Given the description of an element on the screen output the (x, y) to click on. 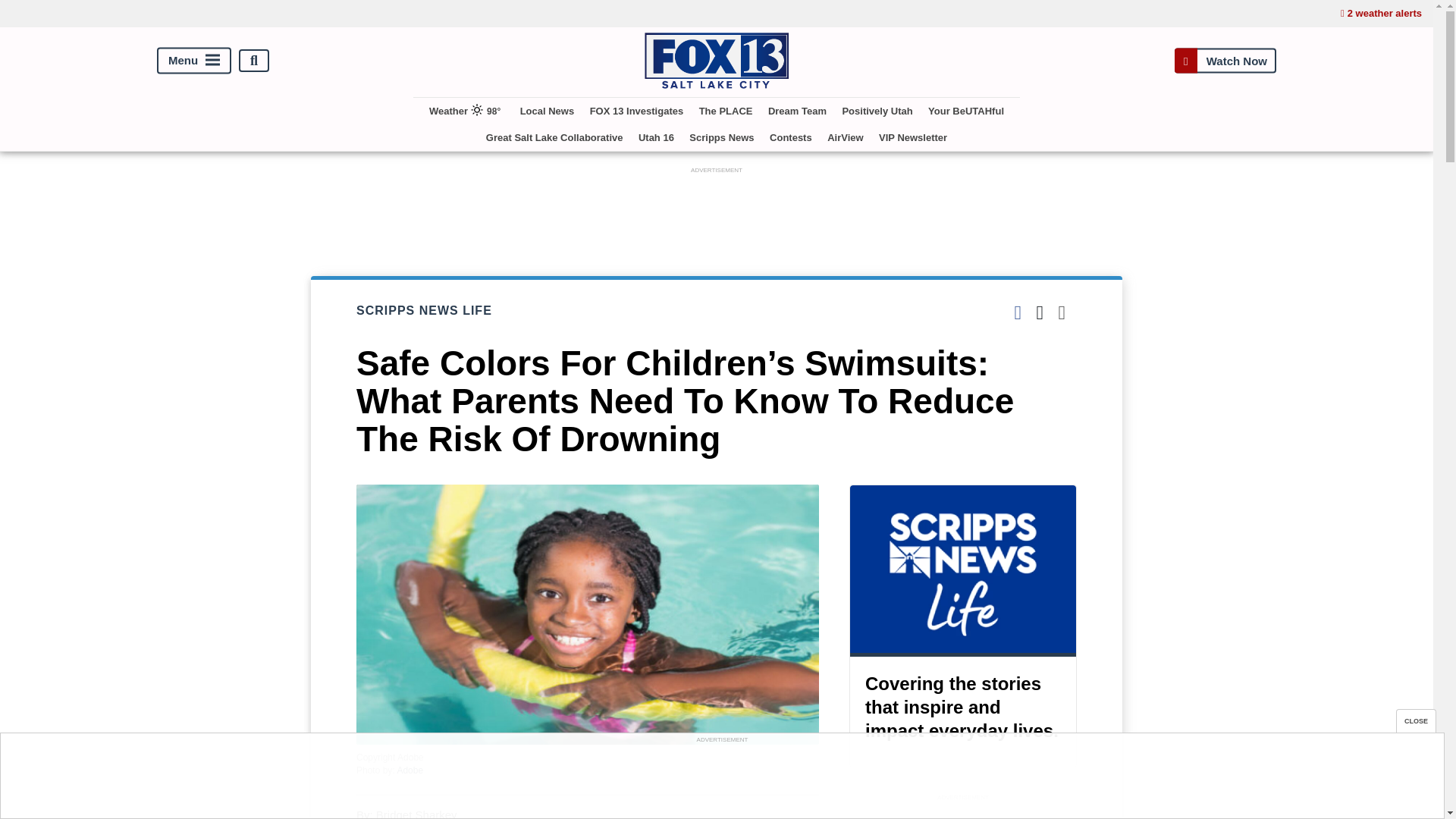
3rd party ad content (721, 780)
3rd party ad content (962, 811)
3rd party ad content (716, 211)
Watch Now (1224, 60)
Menu (194, 60)
